Given the description of an element on the screen output the (x, y) to click on. 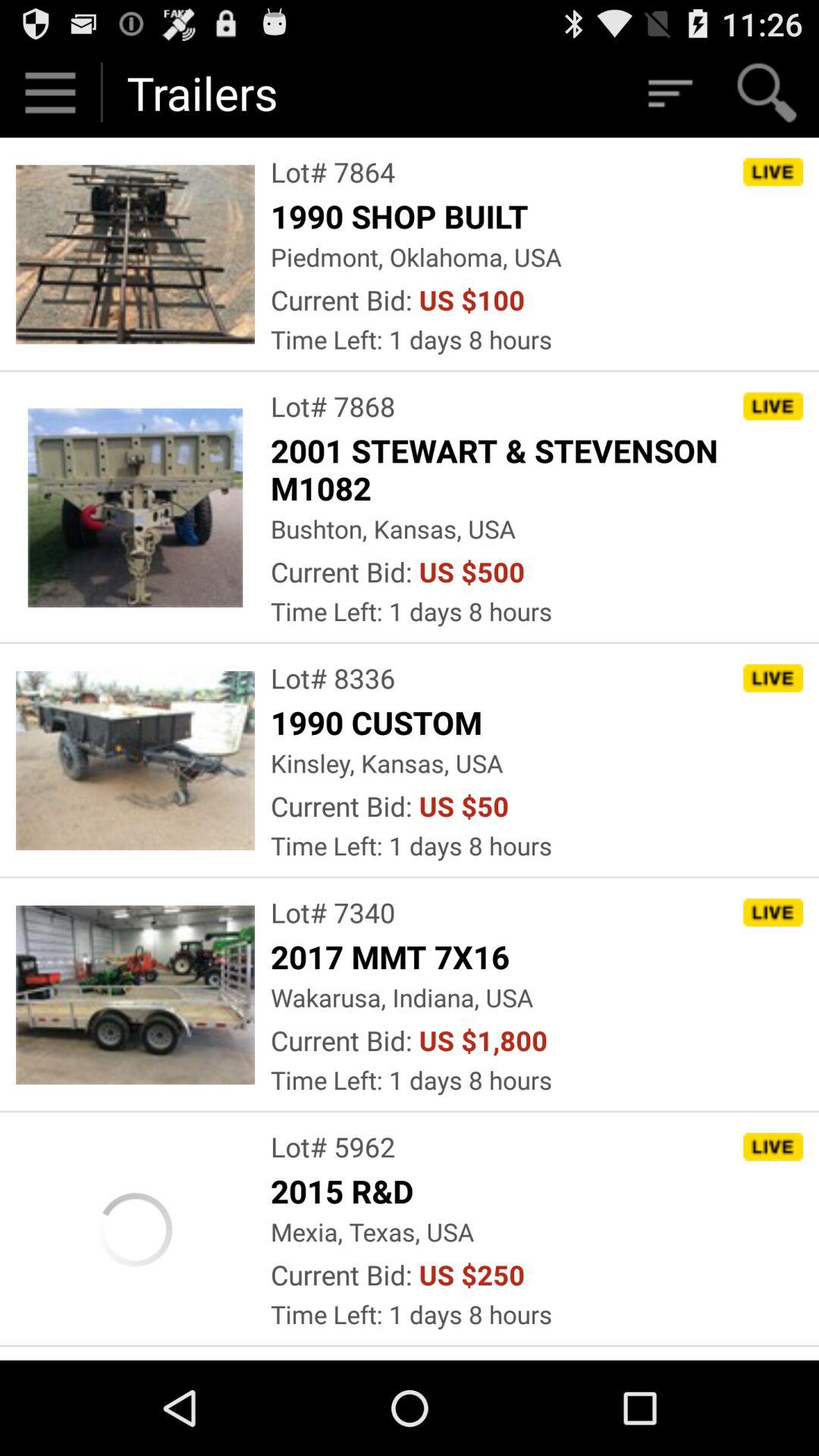
open menu (50, 92)
